Given the description of an element on the screen output the (x, y) to click on. 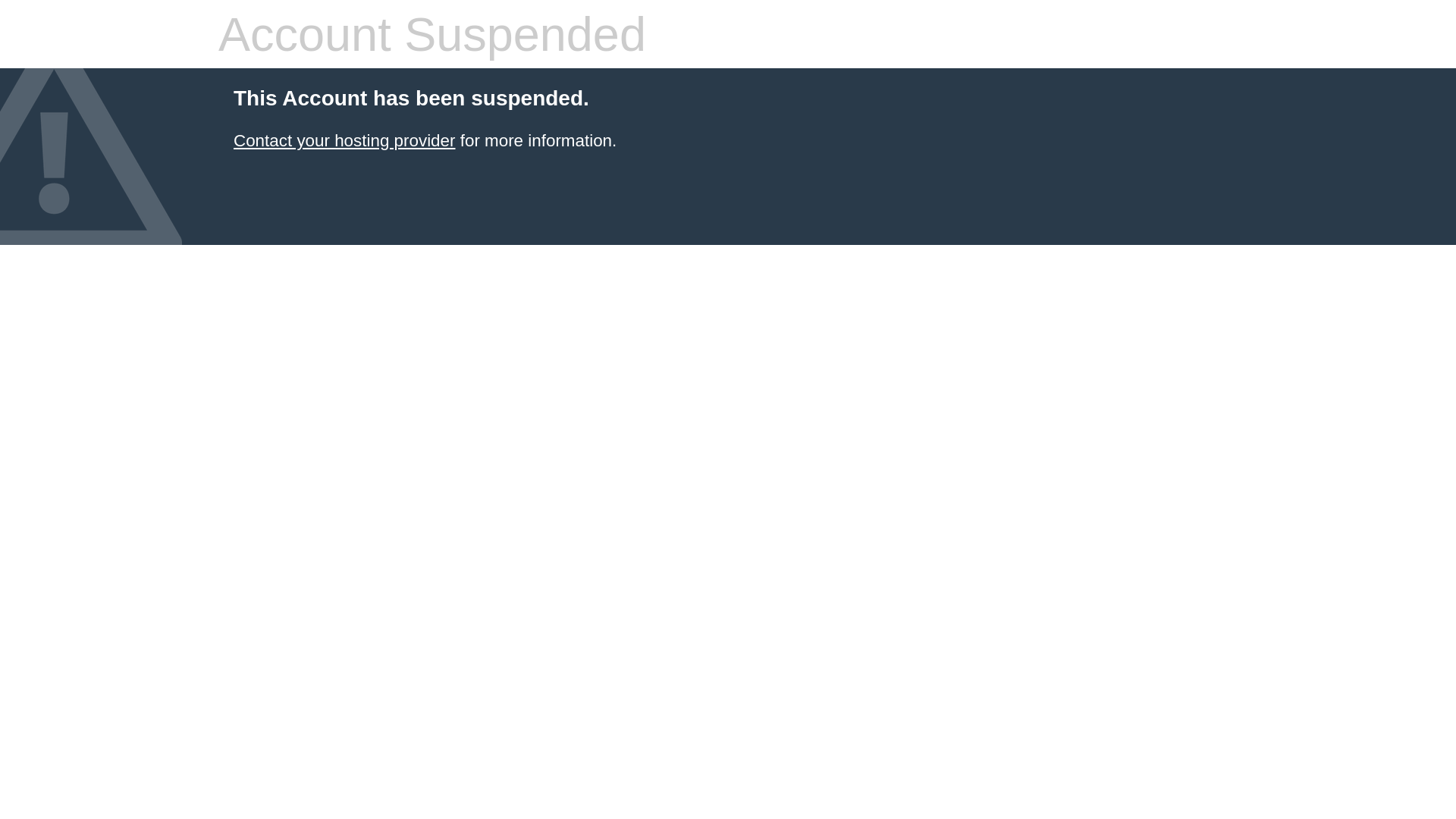
Contact your hosting provider Element type: text (344, 140)
